Given the description of an element on the screen output the (x, y) to click on. 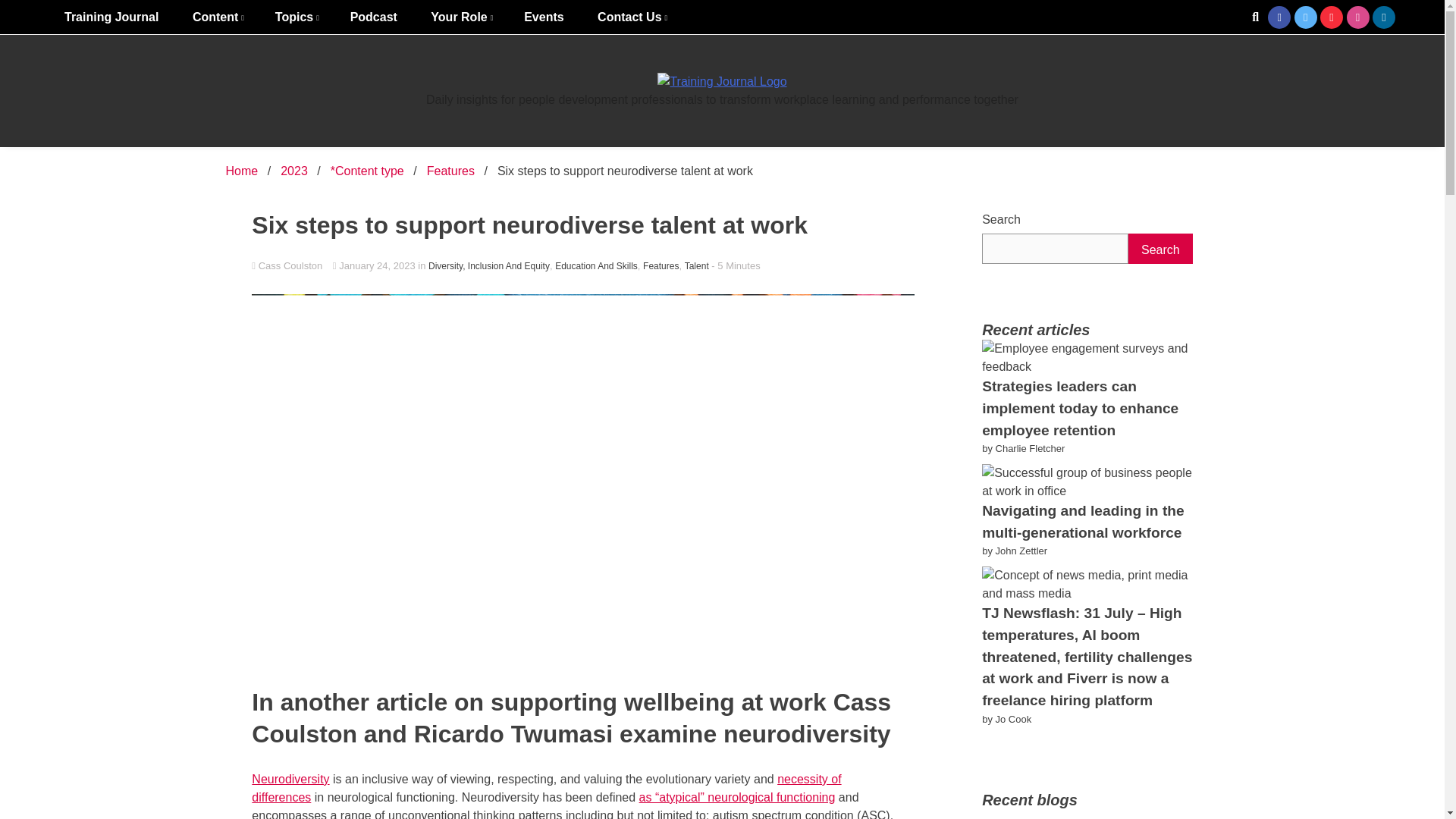
Podcast (373, 17)
Content (216, 17)
Your Role (459, 17)
Topics (295, 17)
Estimated Reading Time of Article (735, 265)
Events (543, 17)
Training Journal (111, 17)
